Given the description of an element on the screen output the (x, y) to click on. 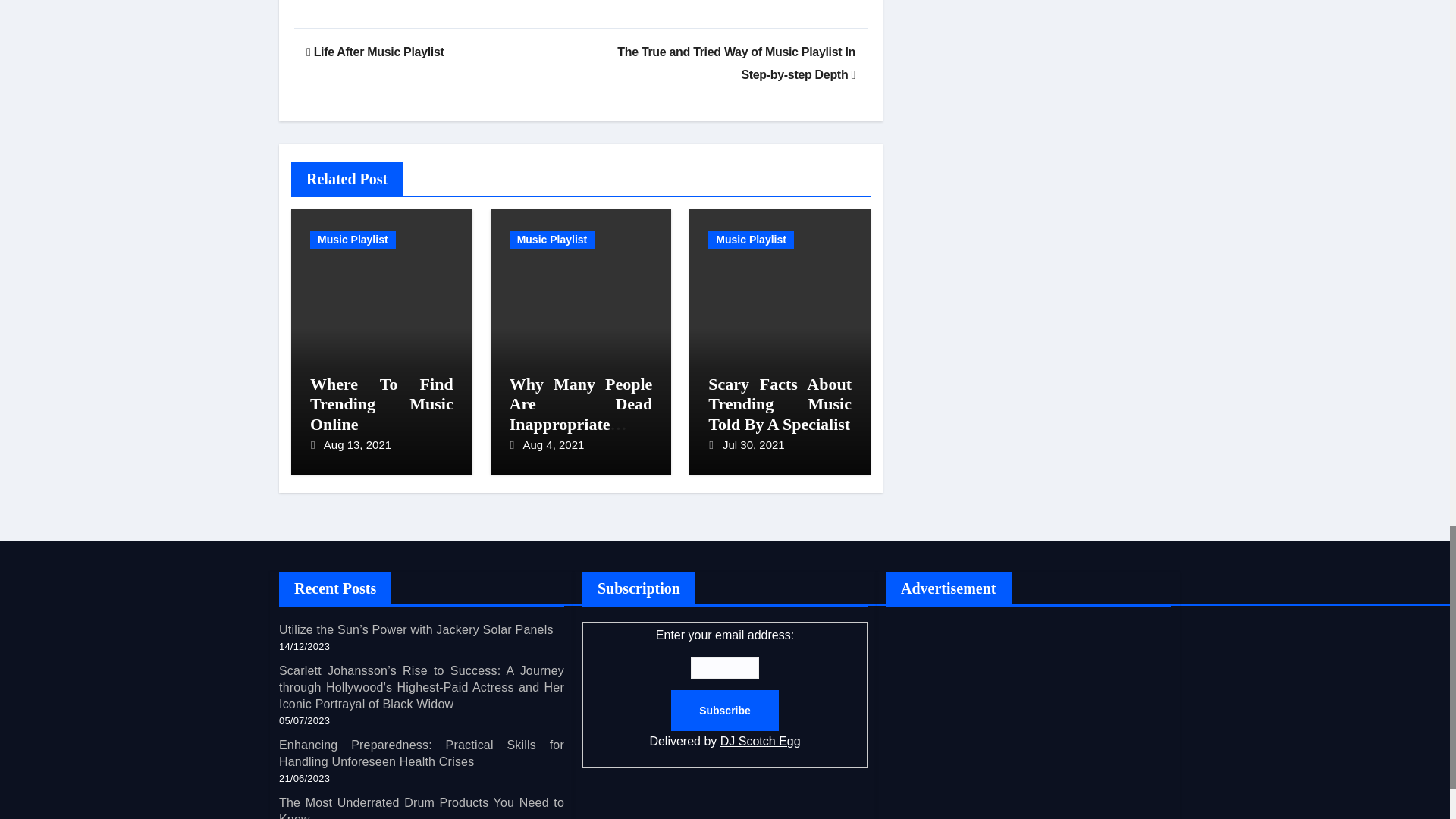
Permalink to: Where To Find Trending Music Online (381, 404)
Subscribe (724, 711)
